Given the description of an element on the screen output the (x, y) to click on. 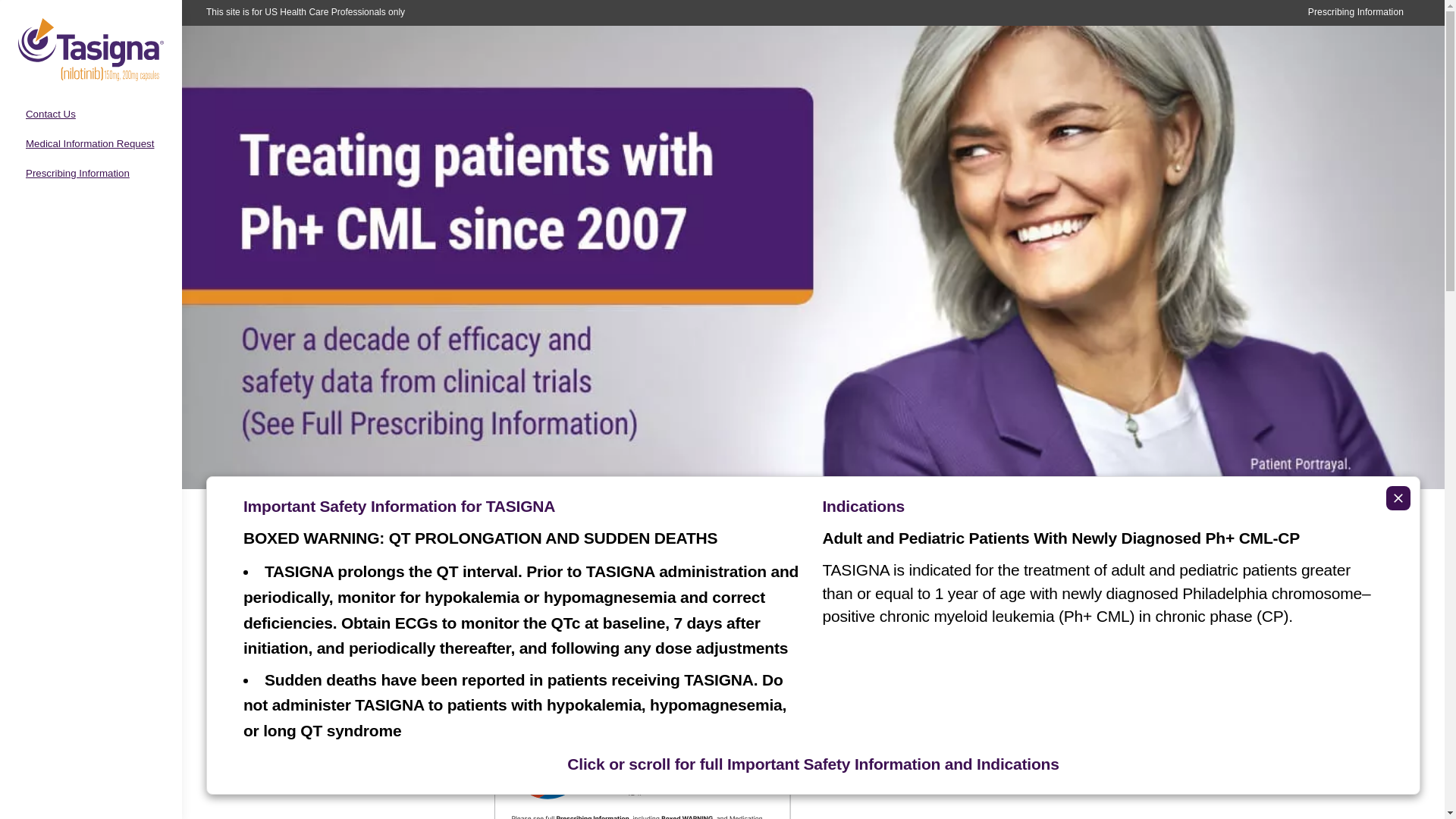
Contact Us (50, 113)
Medical Information Request (89, 143)
Prescribing Information (77, 173)
Prescribing Information (1355, 12)
Medical Information Request (89, 143)
Contact Us (50, 113)
Prescribing Information (77, 173)
